Given the description of an element on the screen output the (x, y) to click on. 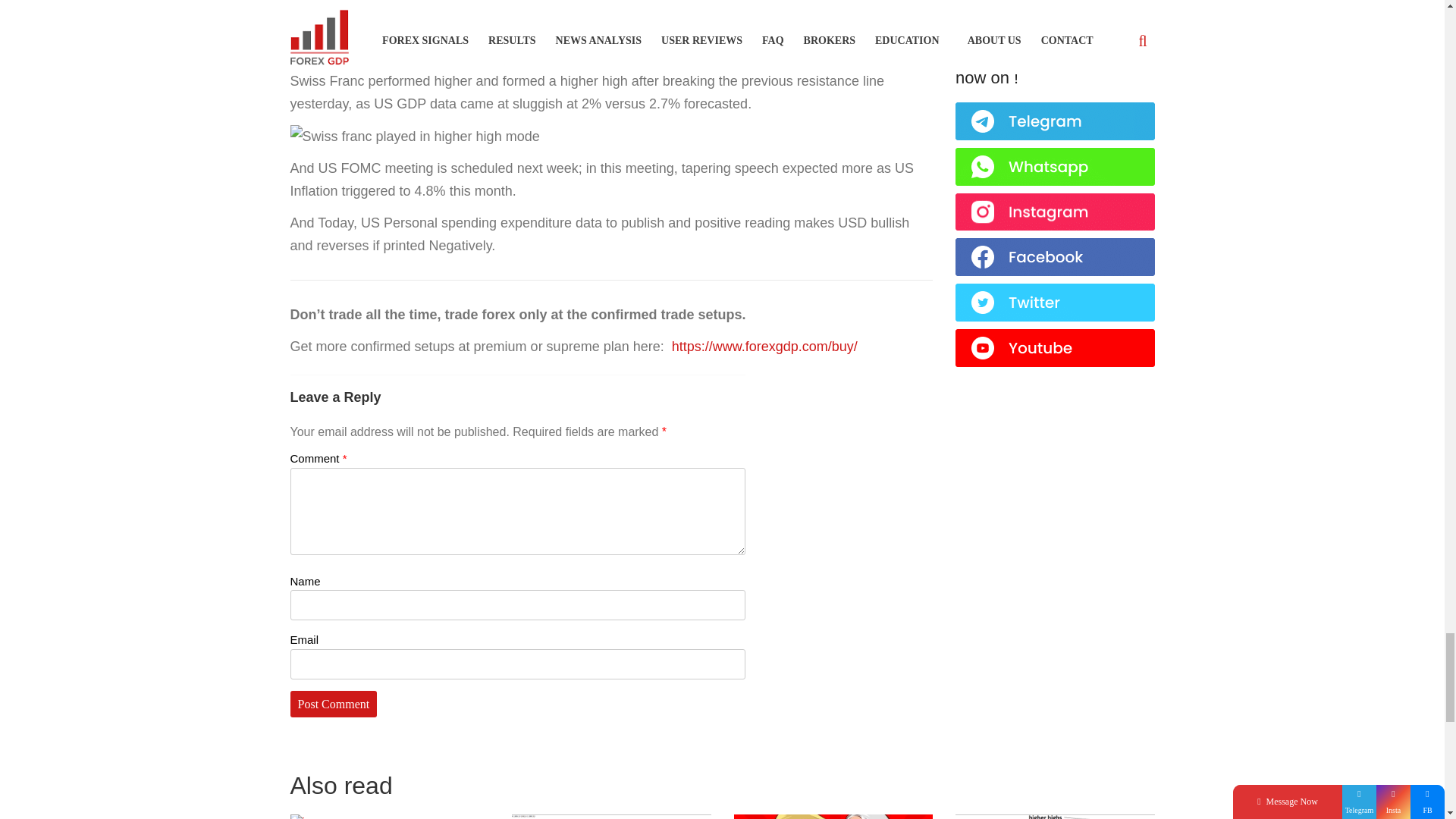
Post Comment (333, 704)
